Given the description of an element on the screen output the (x, y) to click on. 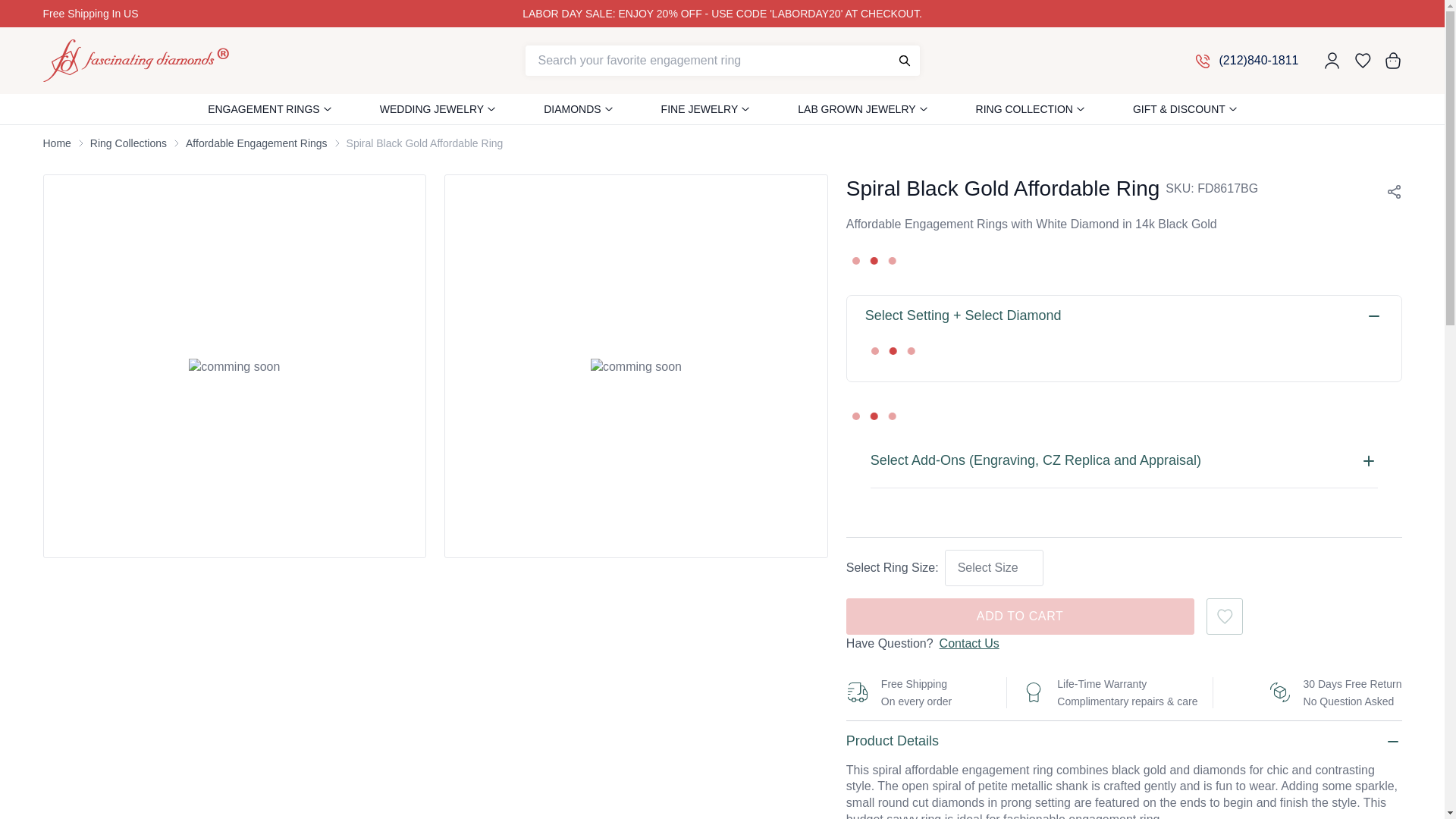
Header Logo (135, 60)
Free Shipping In US (145, 13)
WEDDING JEWELRY (431, 109)
ENGAGEMENT RINGS (264, 109)
